Given the description of an element on the screen output the (x, y) to click on. 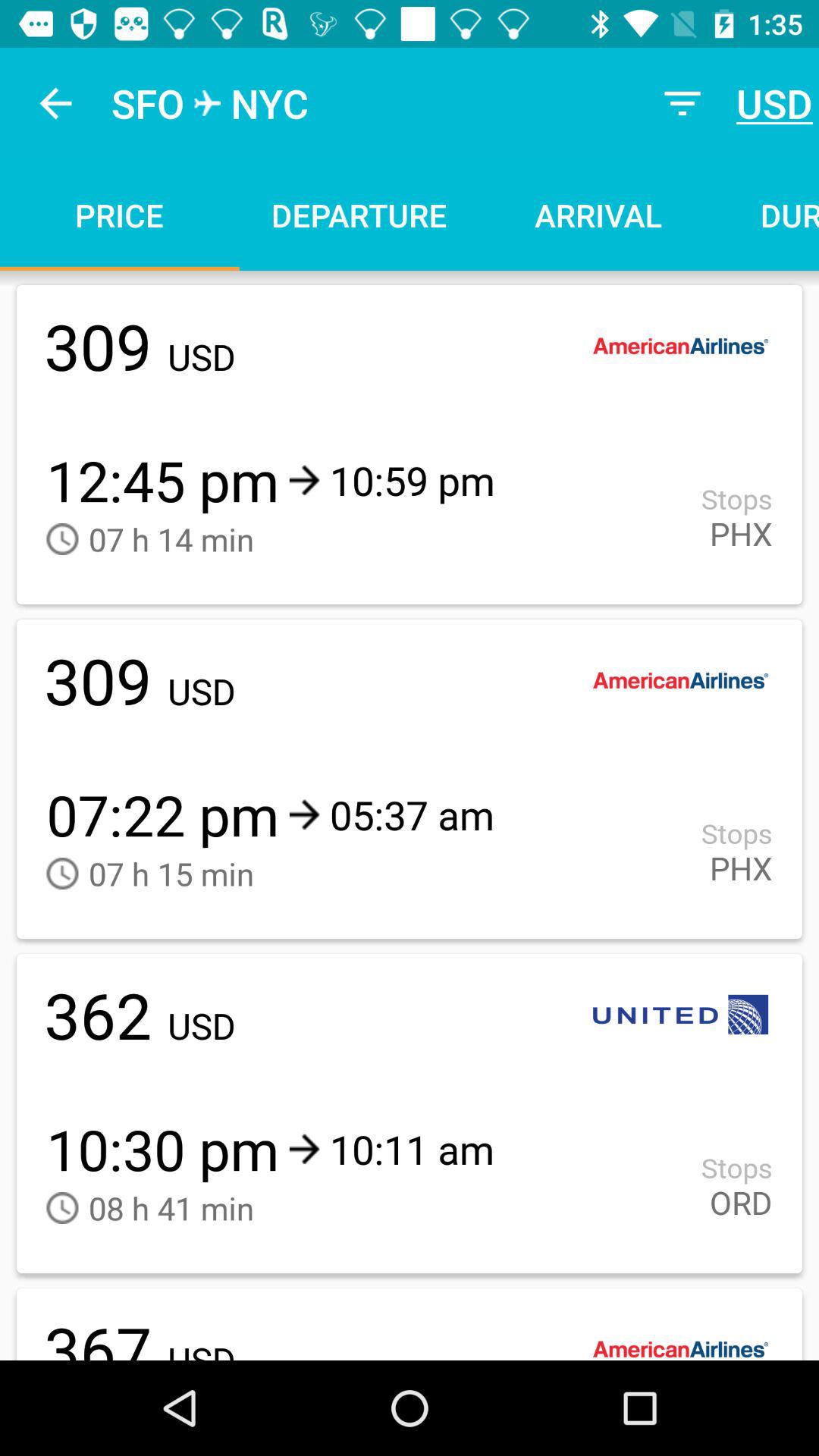
select the icon next to the usd item (682, 103)
